Given the description of an element on the screen output the (x, y) to click on. 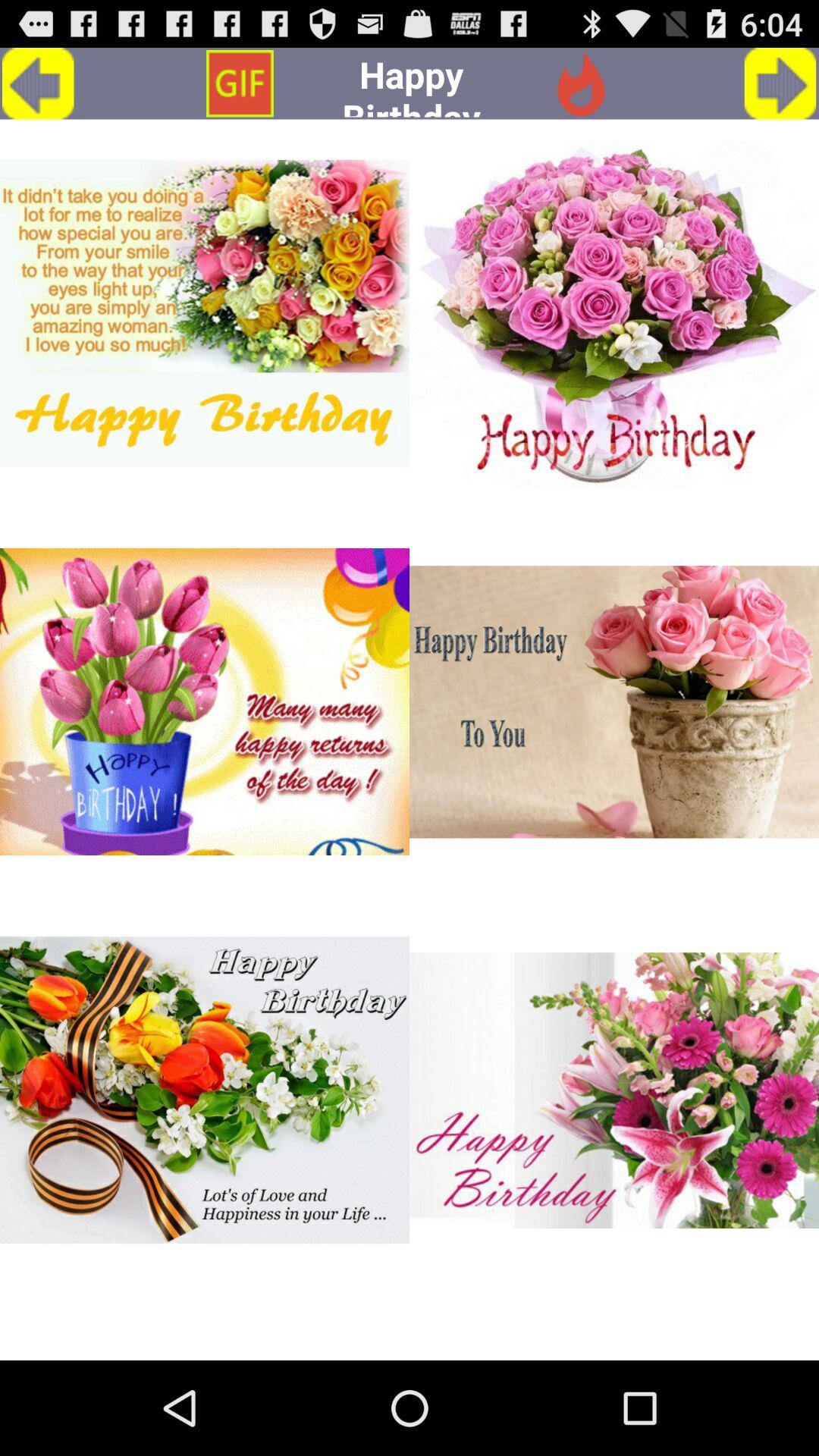
happy birthday card image option (614, 1090)
